Given the description of an element on the screen output the (x, y) to click on. 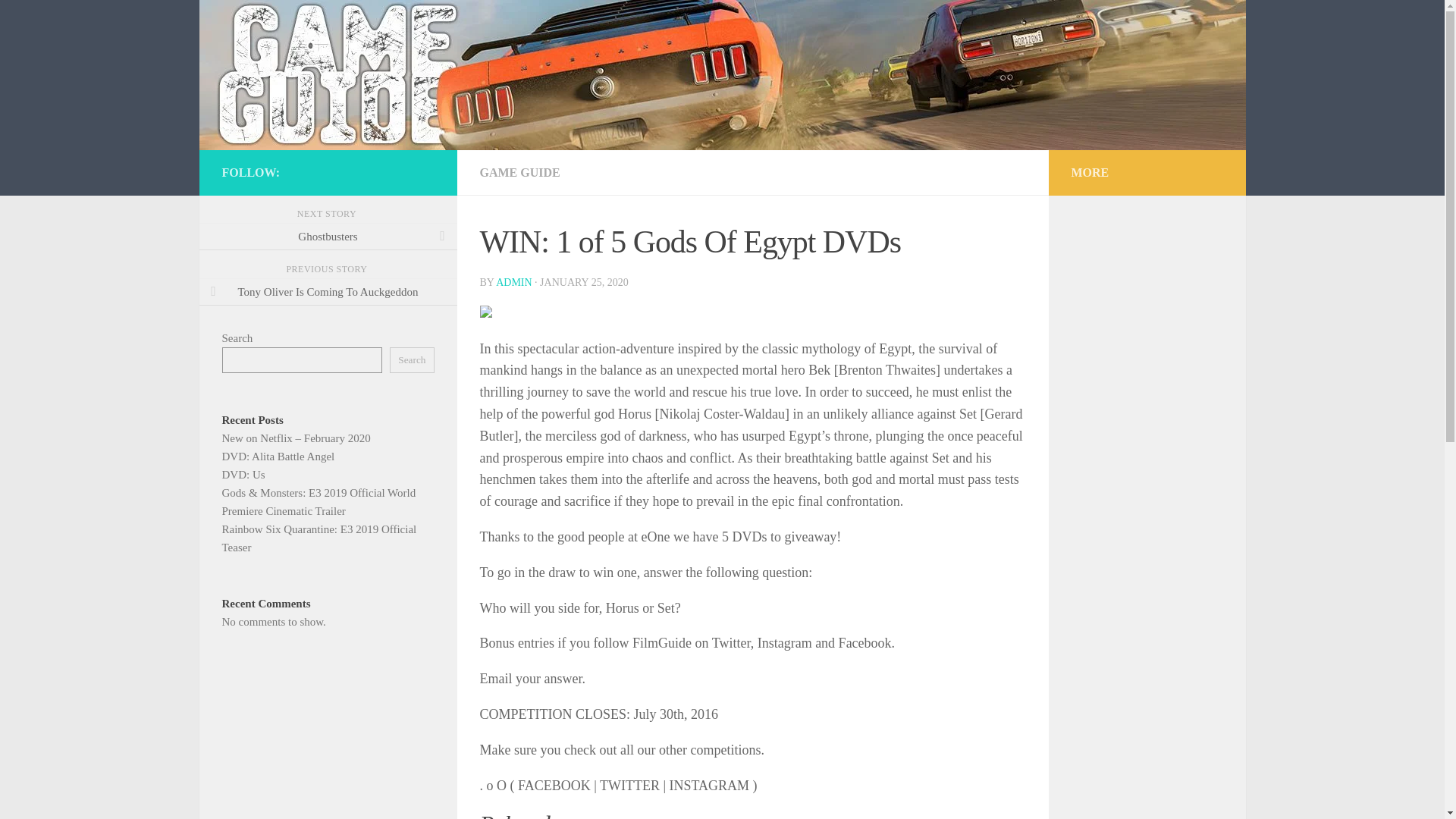
GAME GUIDE (519, 172)
DVD: Alita Battle Angel (277, 456)
DVD: Us (242, 474)
Ghostbusters (327, 236)
Skip to content (59, 20)
Rainbow Six Quarantine: E3 2019 Official Teaser (318, 538)
ADMIN (513, 282)
Posts by admin (513, 282)
Search (411, 360)
